Given the description of an element on the screen output the (x, y) to click on. 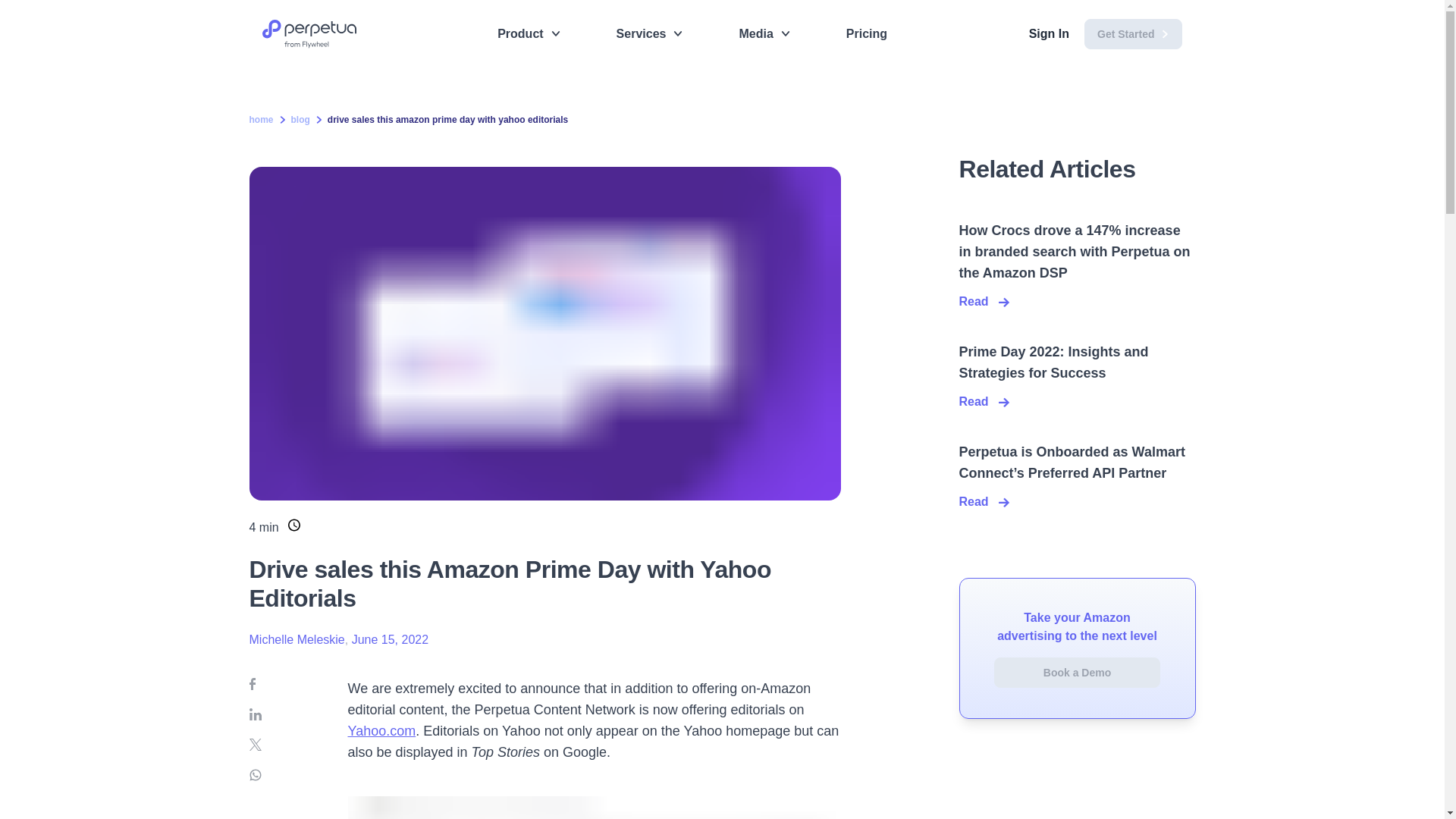
Book a Demo (1077, 672)
Yahoo.com (380, 730)
blog (300, 119)
Get Started (1133, 33)
Sign In (1048, 34)
home (260, 119)
